Given the description of an element on the screen output the (x, y) to click on. 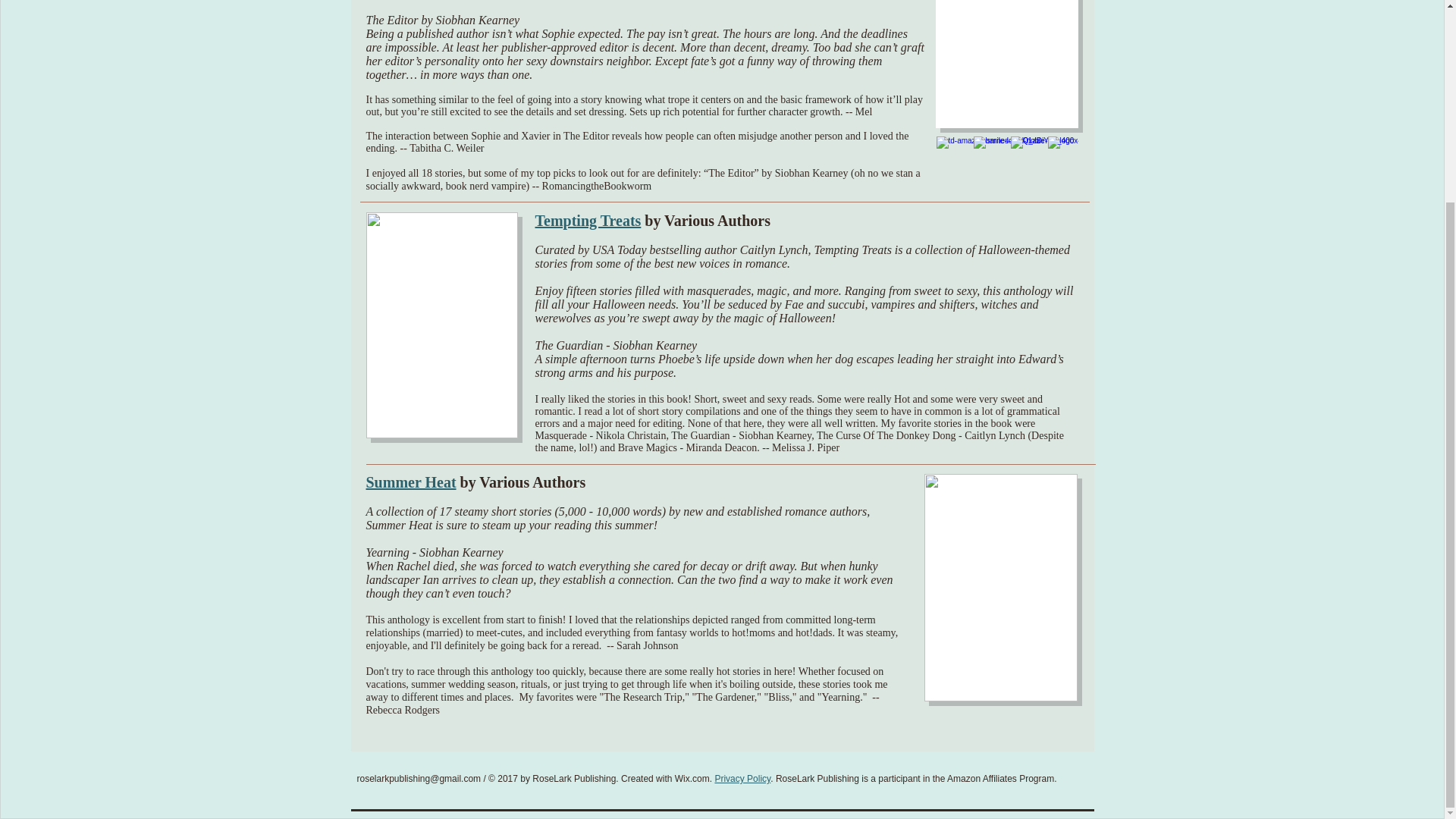
Wix.com. (693, 778)
Tempting Treats (588, 220)
Privacy Policy (742, 778)
Summer Heat (410, 482)
